Given the description of an element on the screen output the (x, y) to click on. 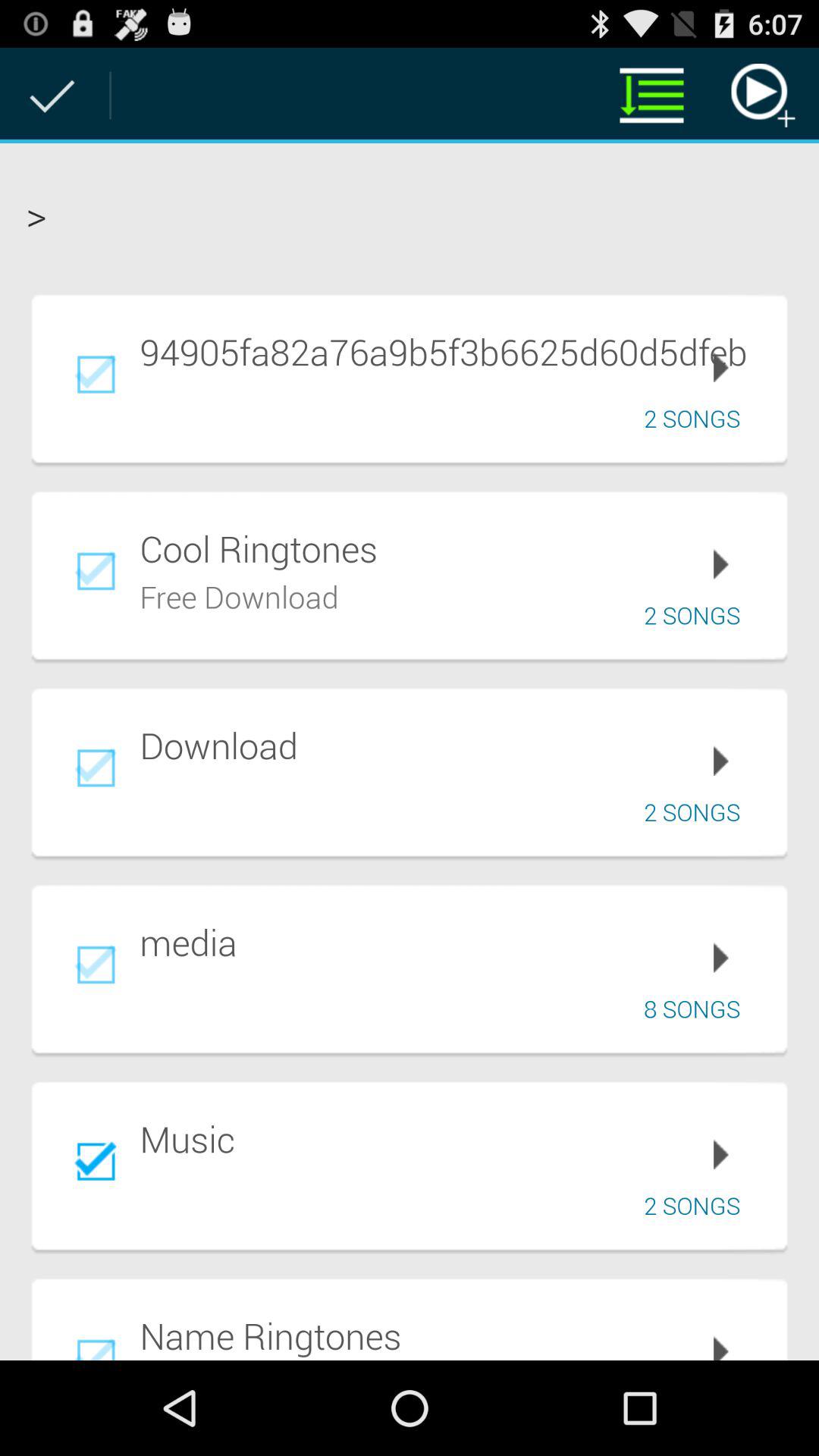
tap app below > icon (452, 351)
